Given the description of an element on the screen output the (x, y) to click on. 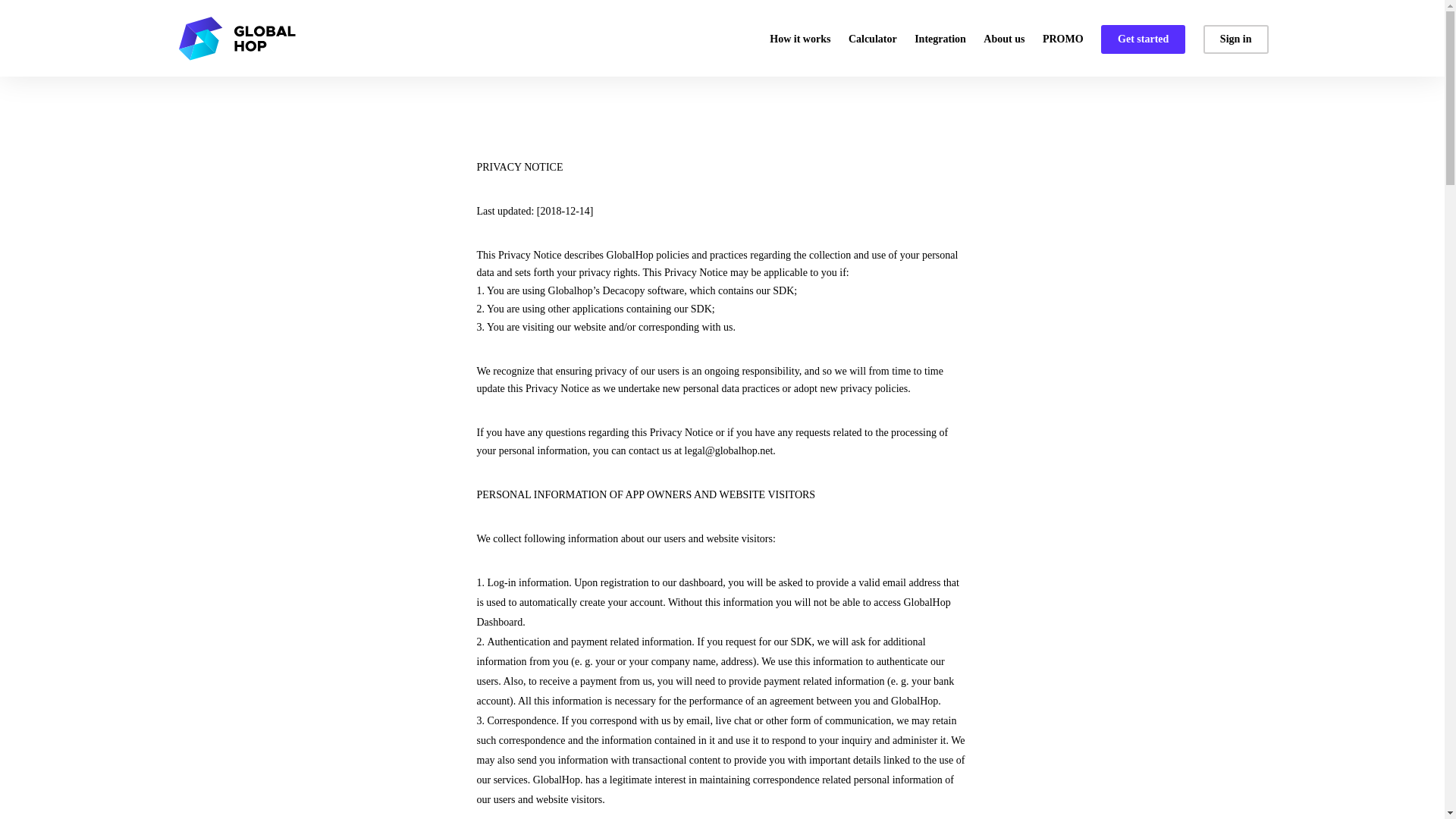
About us (1004, 55)
PROMO (1062, 55)
Integration (940, 55)
Sign in (1236, 39)
Calculator (872, 55)
How it works (799, 55)
Get started (1142, 39)
